Given the description of an element on the screen output the (x, y) to click on. 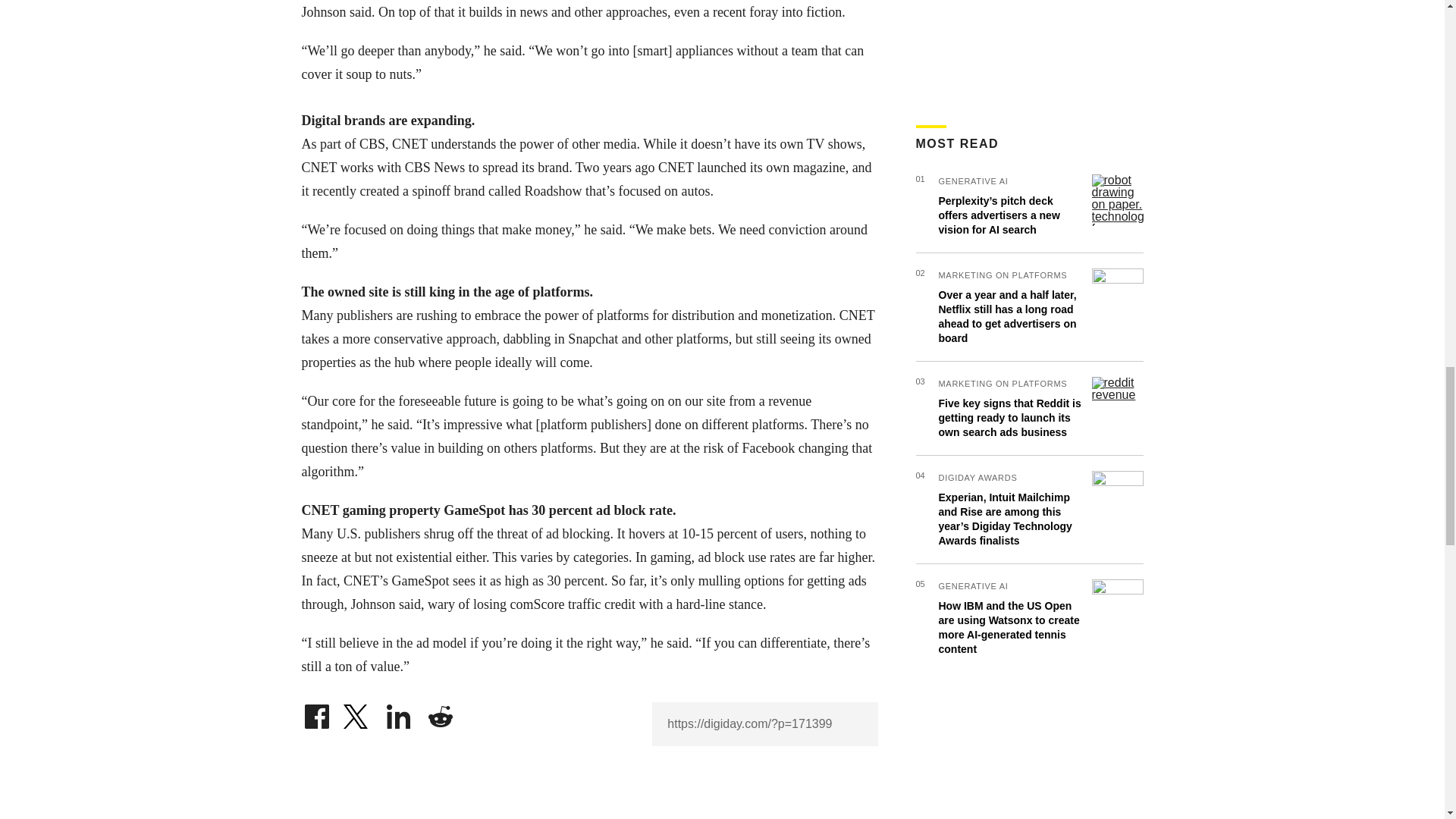
Share on Reddit (440, 712)
Share on Twitter (357, 712)
Share on LinkedIn (398, 712)
Share on Facebook (316, 712)
